Given the description of an element on the screen output the (x, y) to click on. 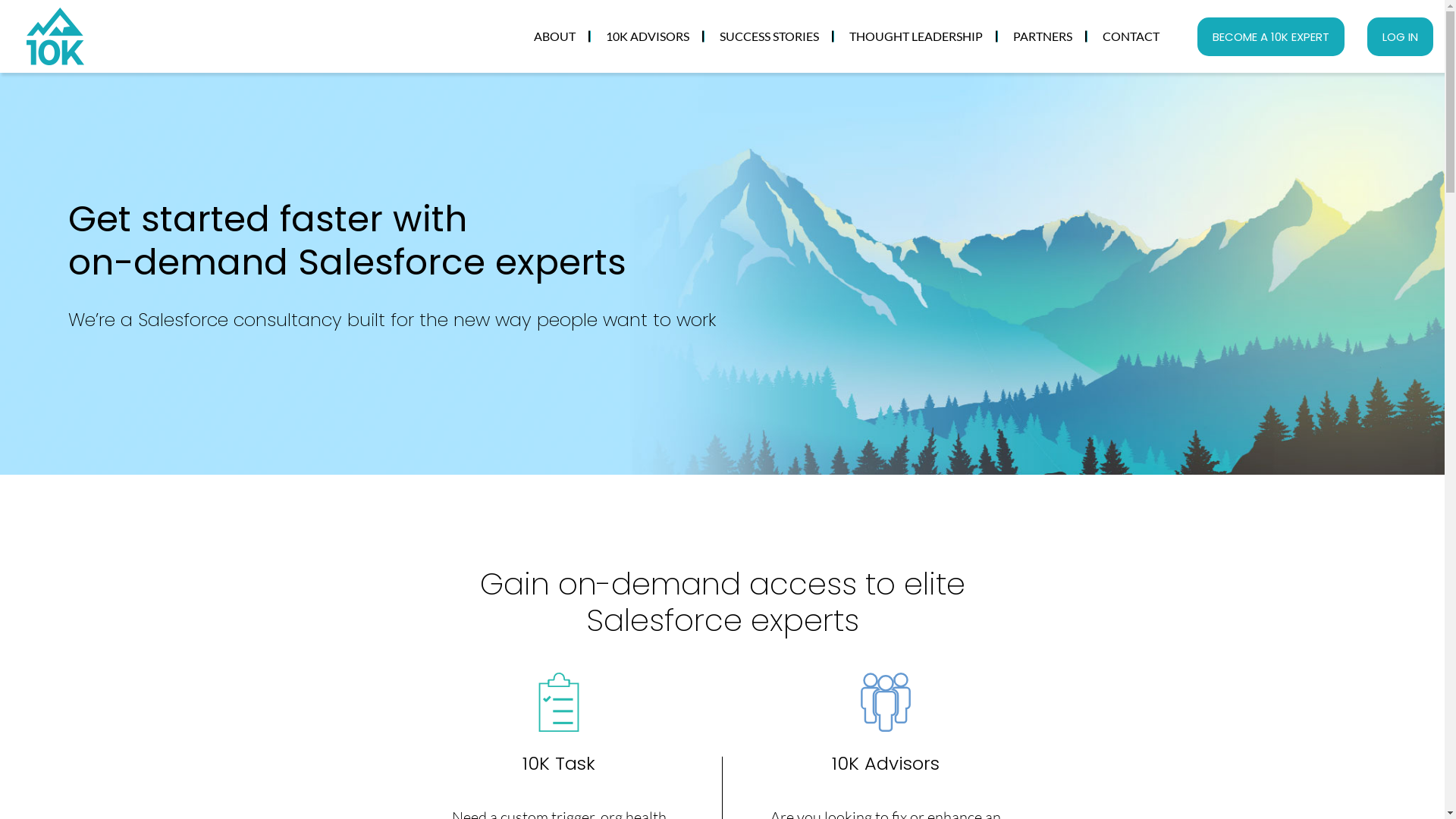
THOUGHT LEADERSHIP Element type: text (915, 36)
PARTNERS Element type: text (1042, 36)
ABOUT Element type: text (554, 36)
SUCCESS STORIES Element type: text (769, 36)
LOG IN Element type: text (1400, 35)
CONTACT Element type: text (1130, 36)
10K ADVISORS Element type: text (647, 36)
BECOME A 10K EXPERT Element type: text (1270, 35)
